Given the description of an element on the screen output the (x, y) to click on. 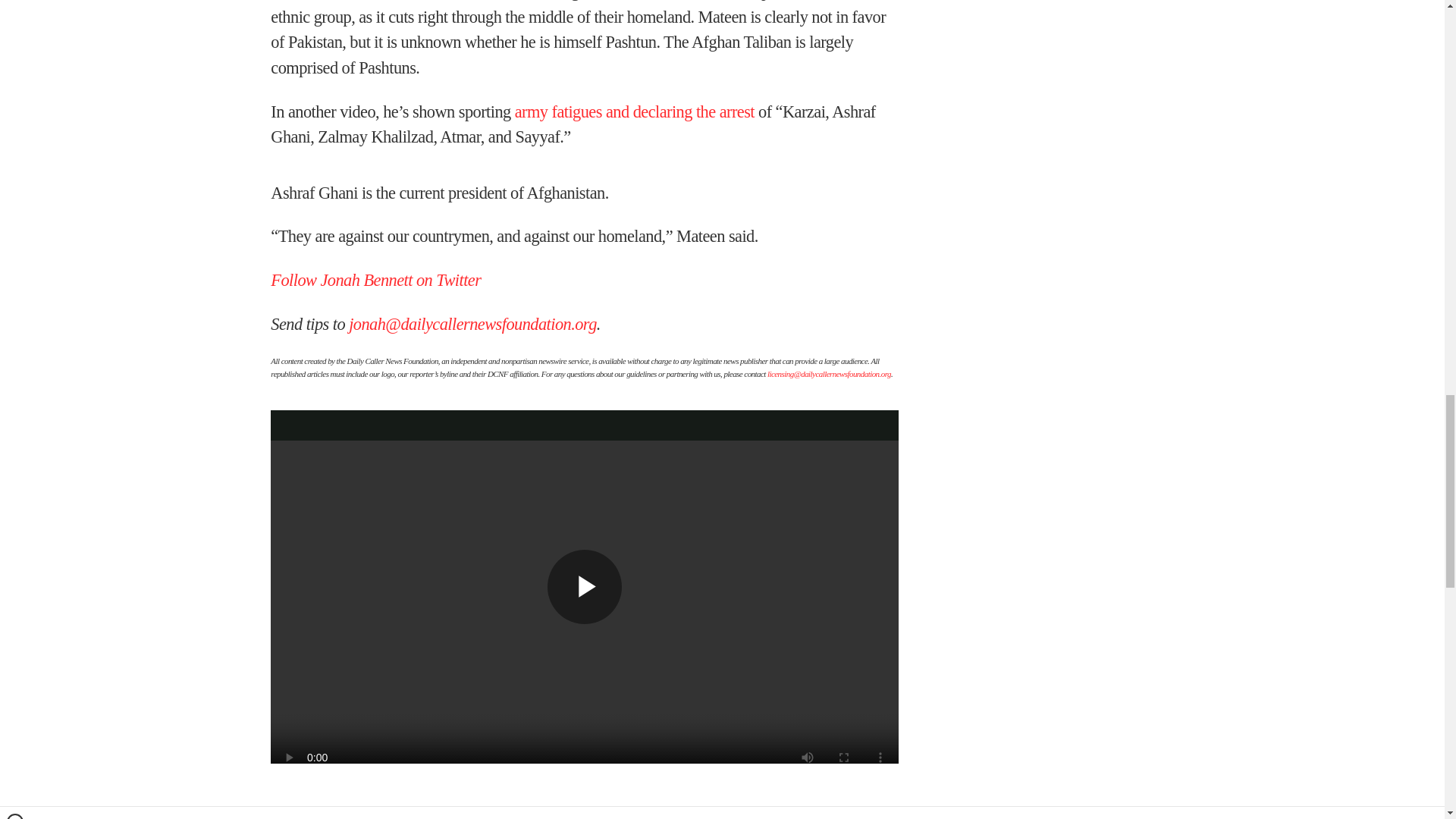
Play Video (584, 586)
